Given the description of an element on the screen output the (x, y) to click on. 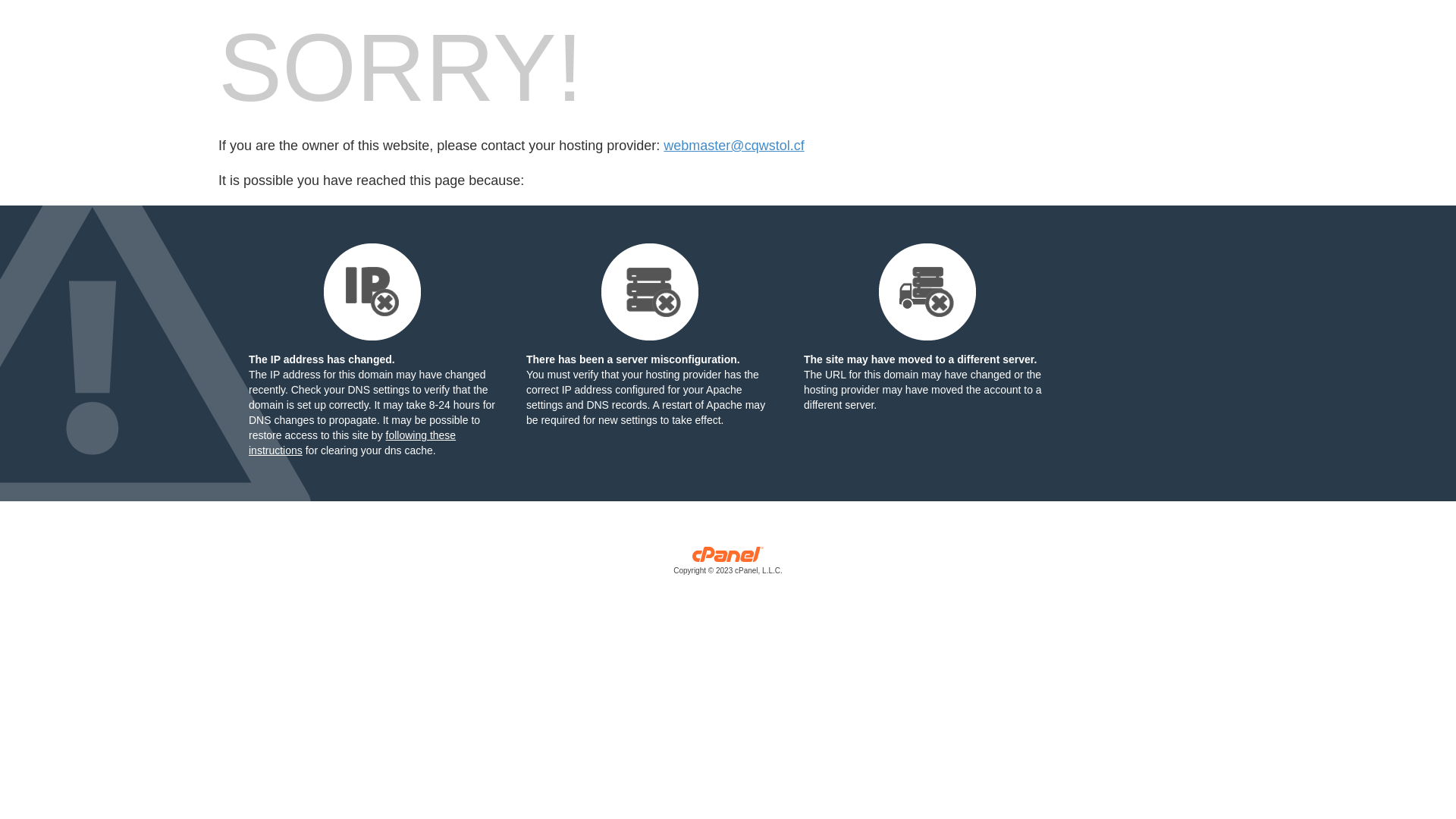
webmaster@cqwstol.cf Element type: text (733, 145)
following these instructions Element type: text (351, 442)
